Given the description of an element on the screen output the (x, y) to click on. 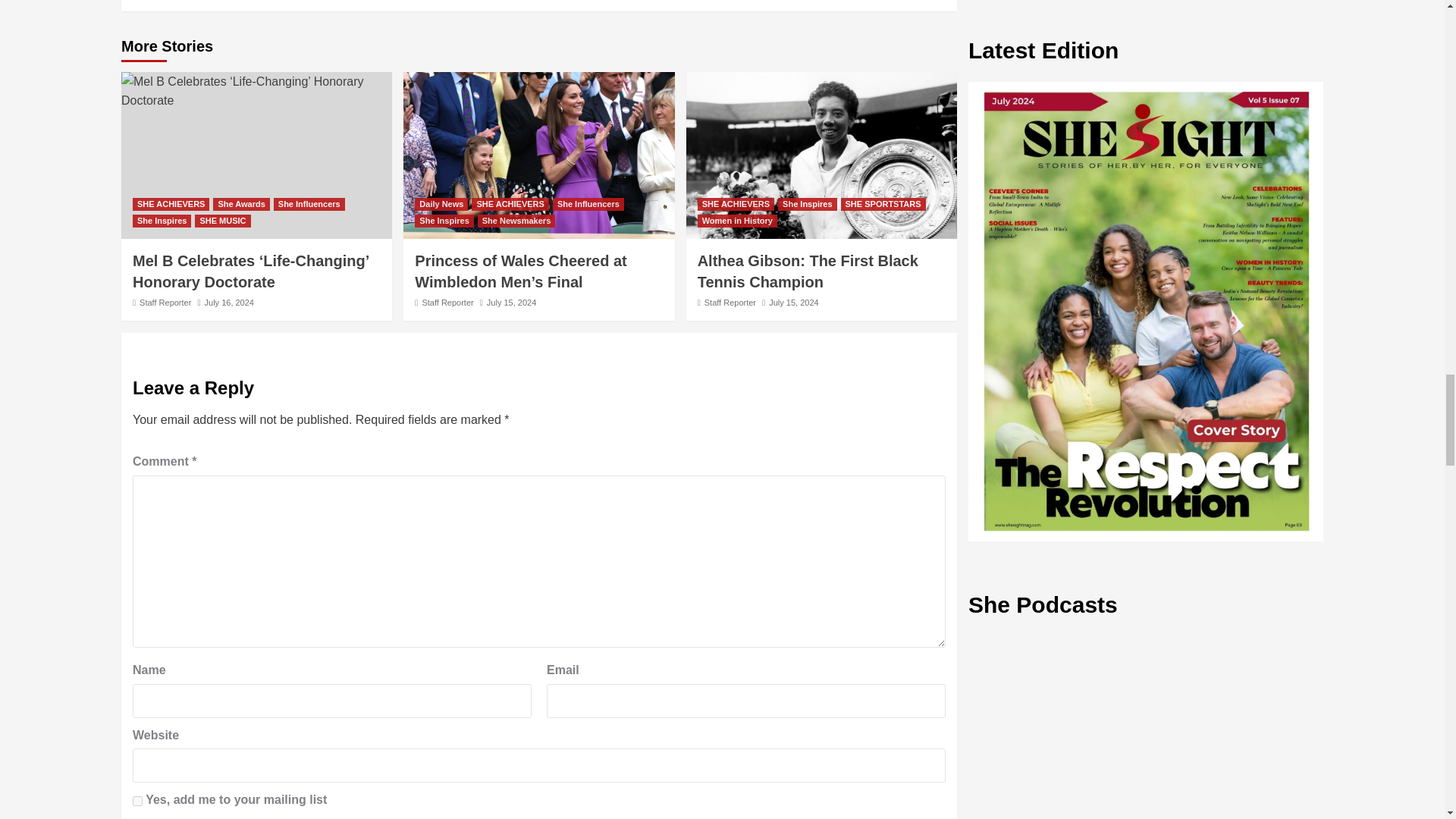
1 (137, 800)
